Given the description of an element on the screen output the (x, y) to click on. 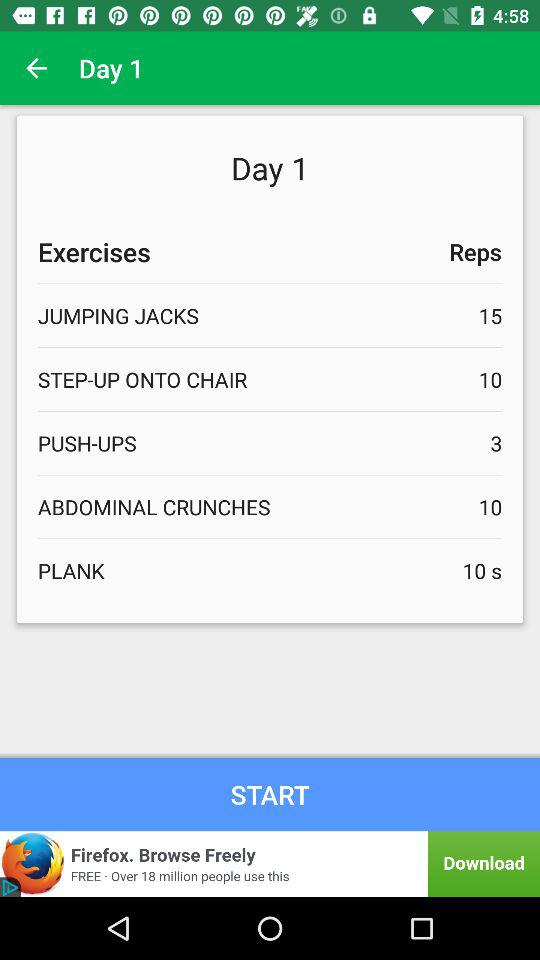
button to download application (270, 864)
